Given the description of an element on the screen output the (x, y) to click on. 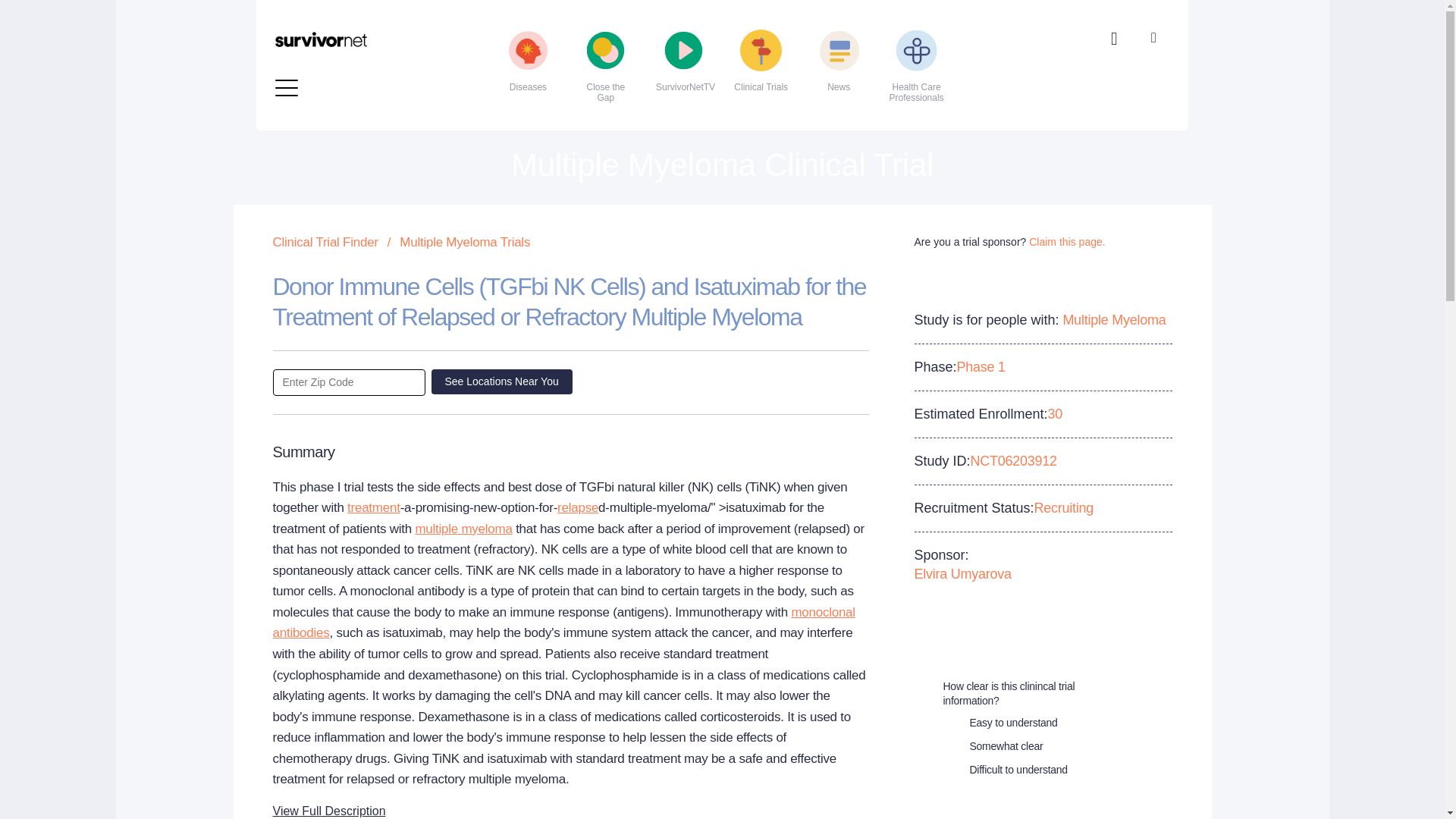
Liver Cancer (364, 78)
Prostate Cancer (661, 28)
Psoriasis (661, 52)
Heart Failure (364, 28)
Esophageal Cancer (364, 7)
Ovarian Cancer (661, 7)
